Given the description of an element on the screen output the (x, y) to click on. 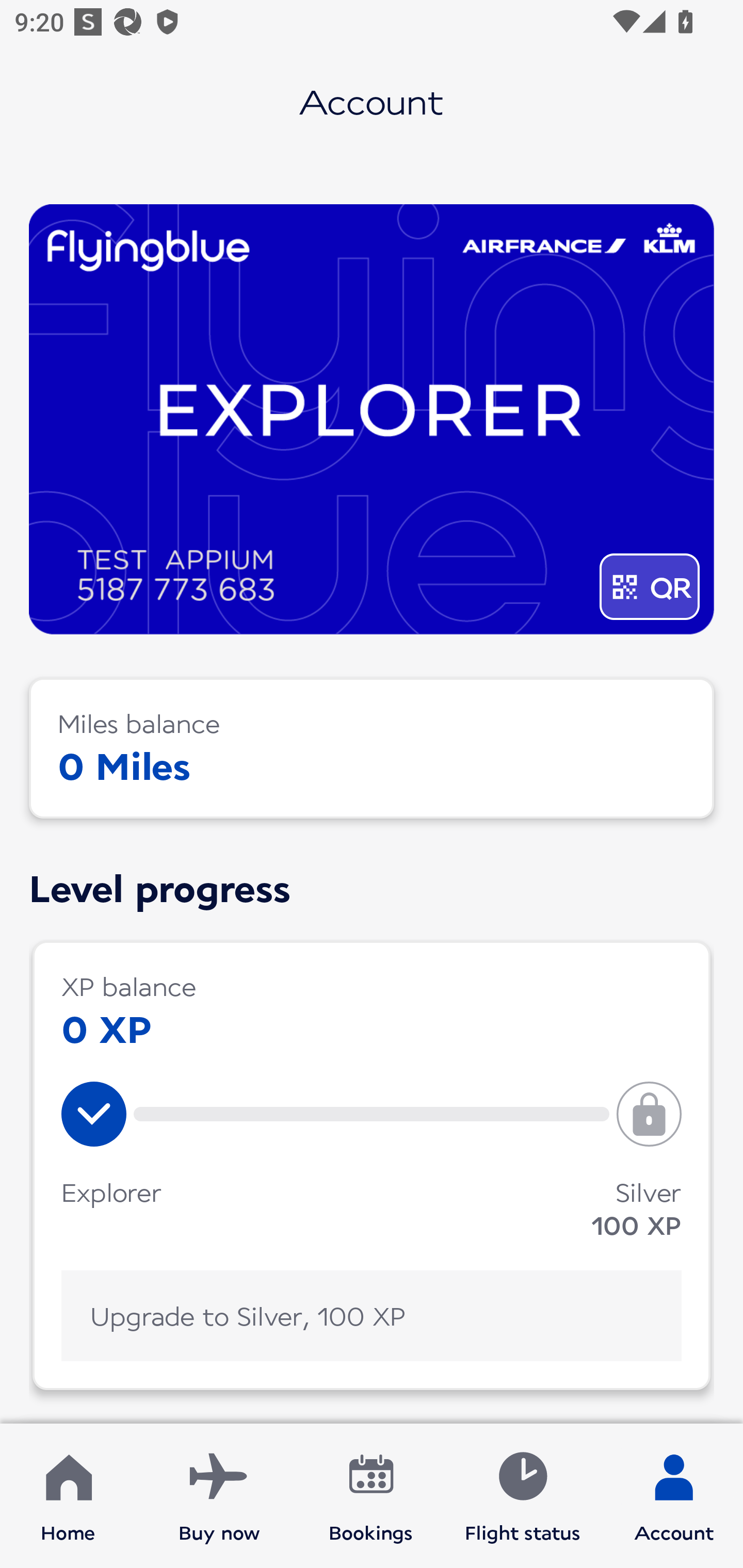
Miles balance 0 Miles (371, 747)
Home (68, 1495)
Buy now (219, 1495)
Bookings (370, 1495)
Flight status (522, 1495)
